Given the description of an element on the screen output the (x, y) to click on. 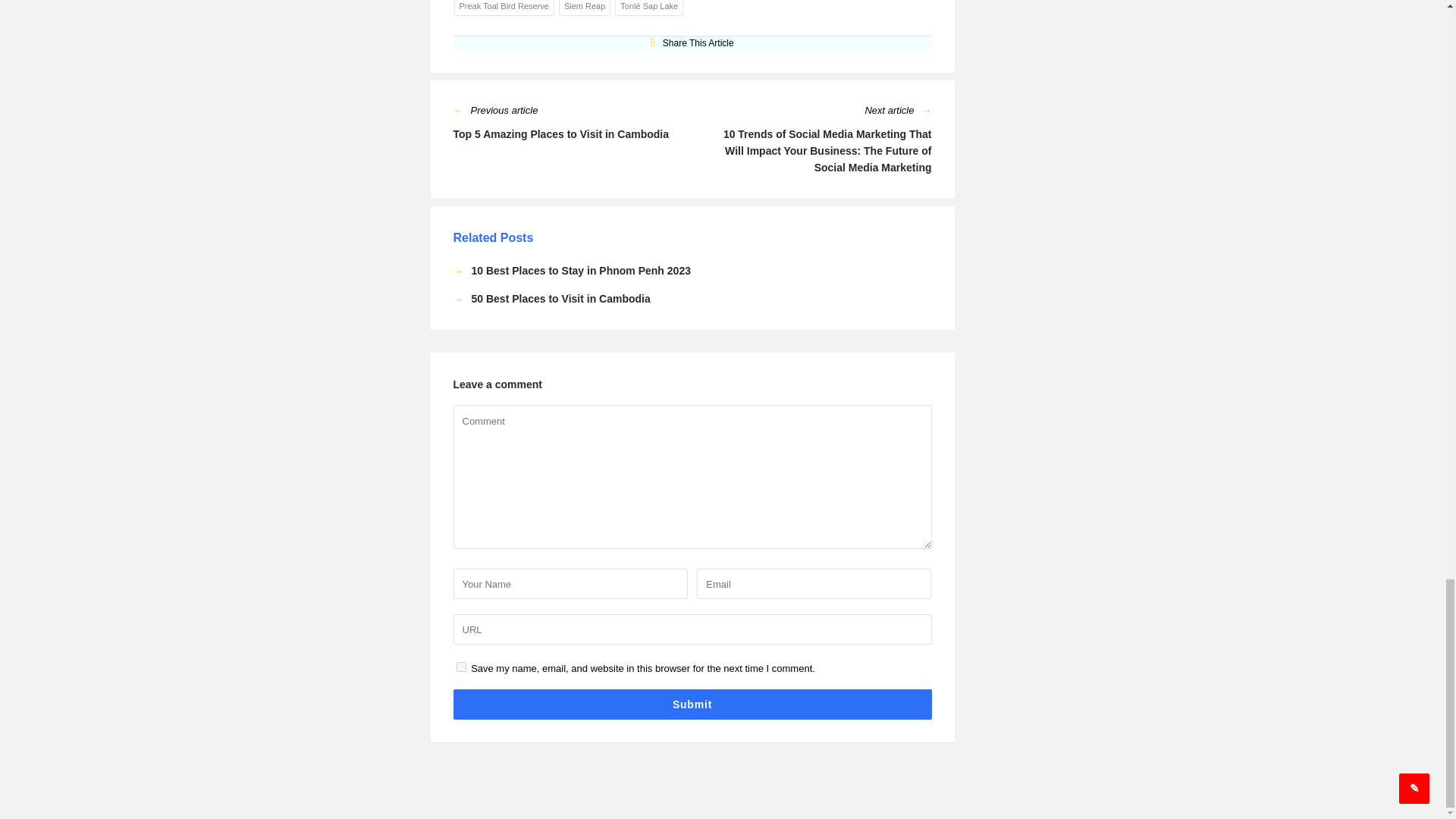
10 Best Places to Stay in Phnom Penh 2023 (571, 270)
50 Best Places to Visit in Cambodia (551, 298)
yes (461, 666)
Submit (691, 704)
